Given the description of an element on the screen output the (x, y) to click on. 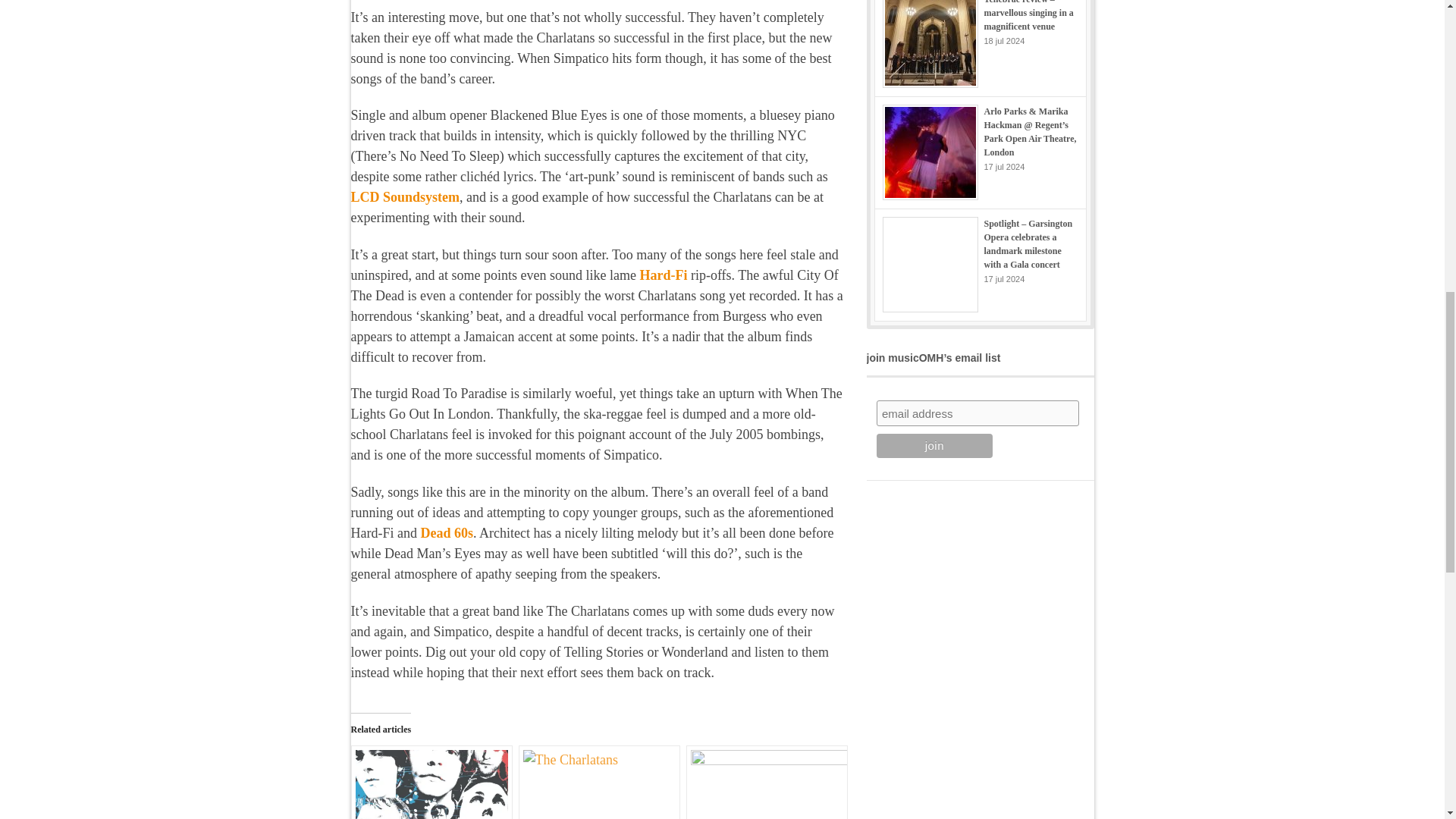
LCD Soundsystem (405, 196)
join (934, 445)
Dead 60s (446, 532)
Hard-Fi (663, 274)
